Given the description of an element on the screen output the (x, y) to click on. 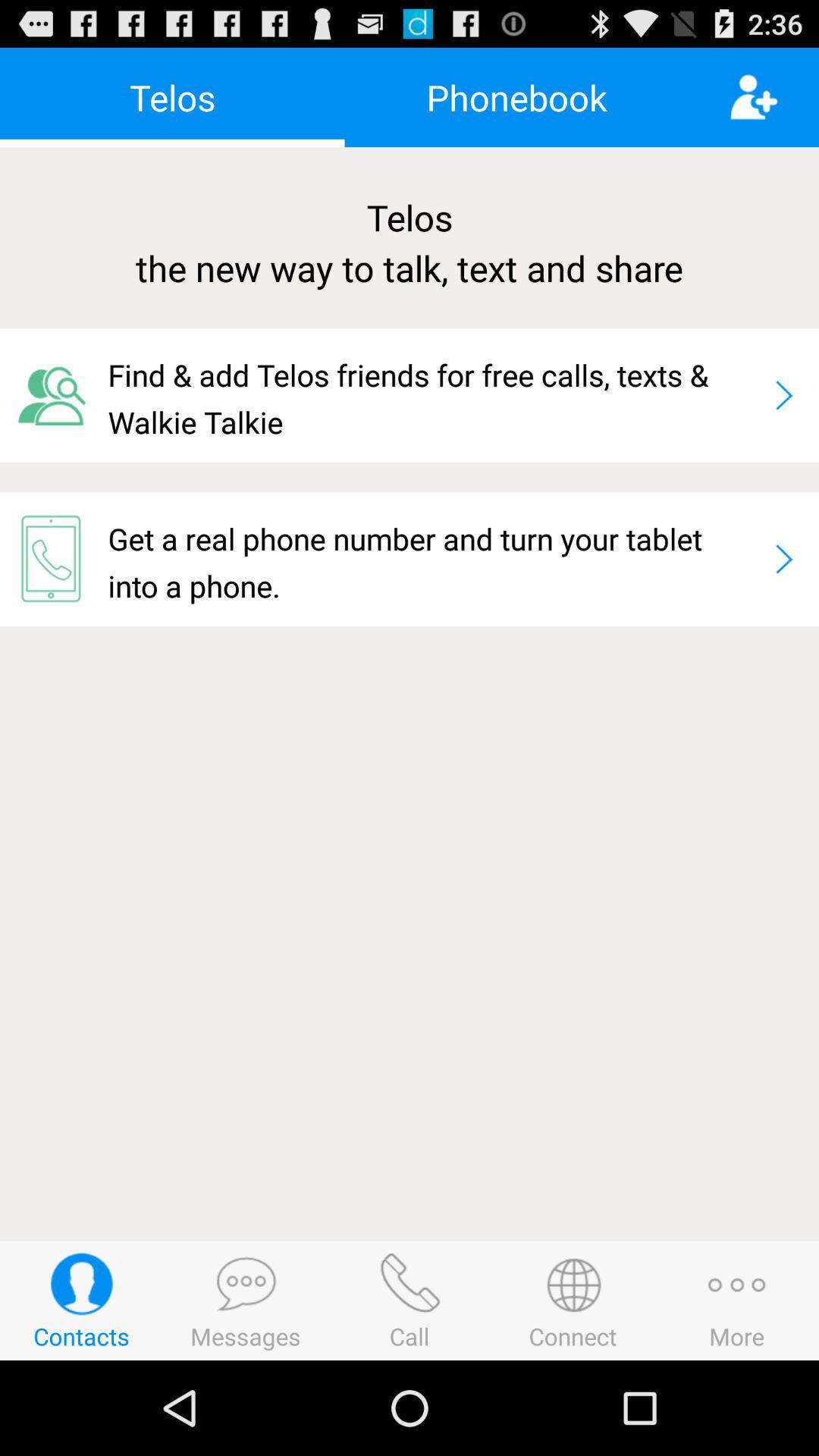
turn off the item above find add telos icon (409, 242)
